Given the description of an element on the screen output the (x, y) to click on. 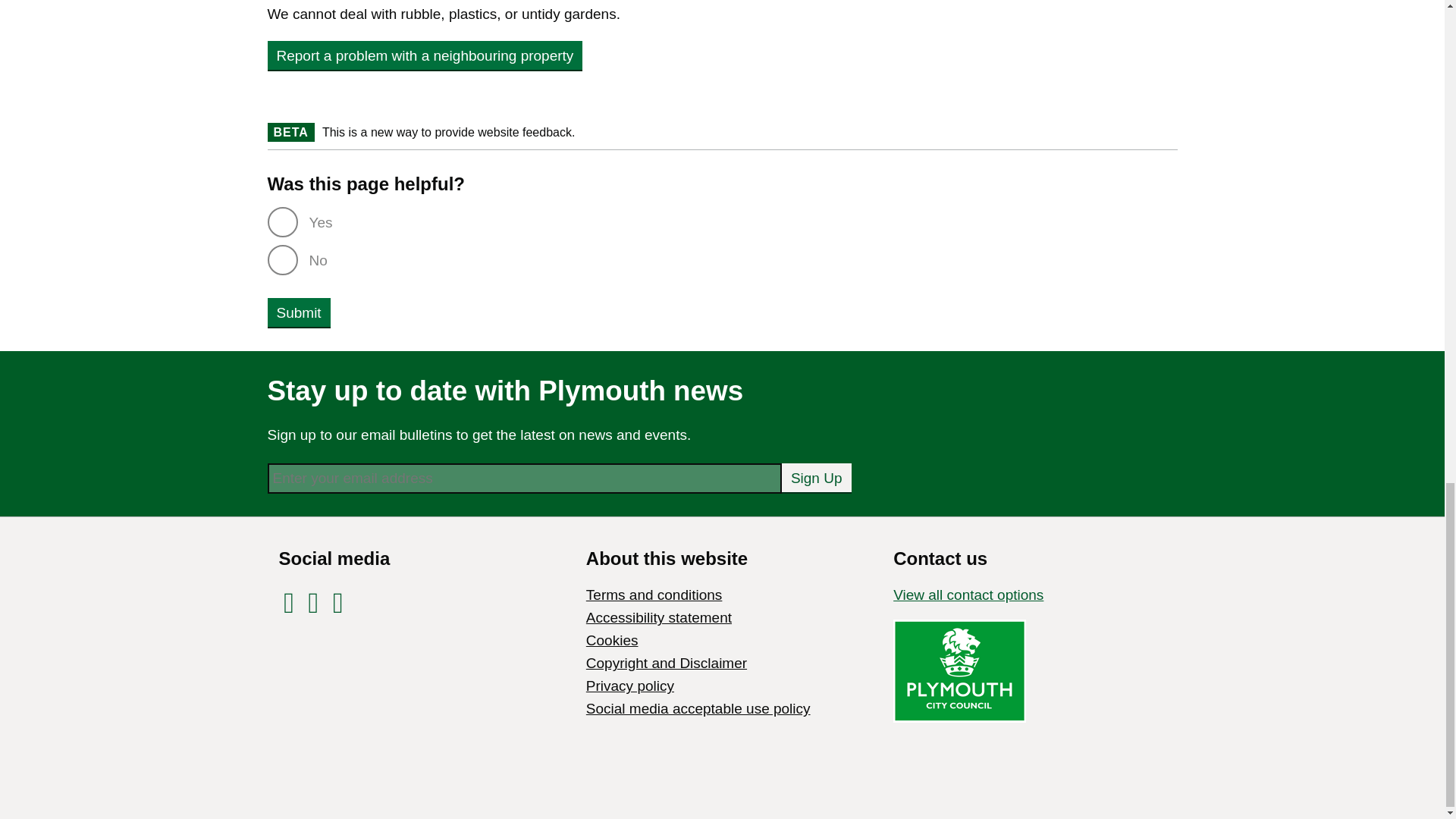
Submit (298, 312)
Accessibility statement (659, 617)
Sign Up (816, 477)
Report a problem with a neighbouring property (424, 54)
Sign Up (816, 477)
Submit (298, 312)
Cookies (612, 640)
Terms and conditions (654, 594)
